Given the description of an element on the screen output the (x, y) to click on. 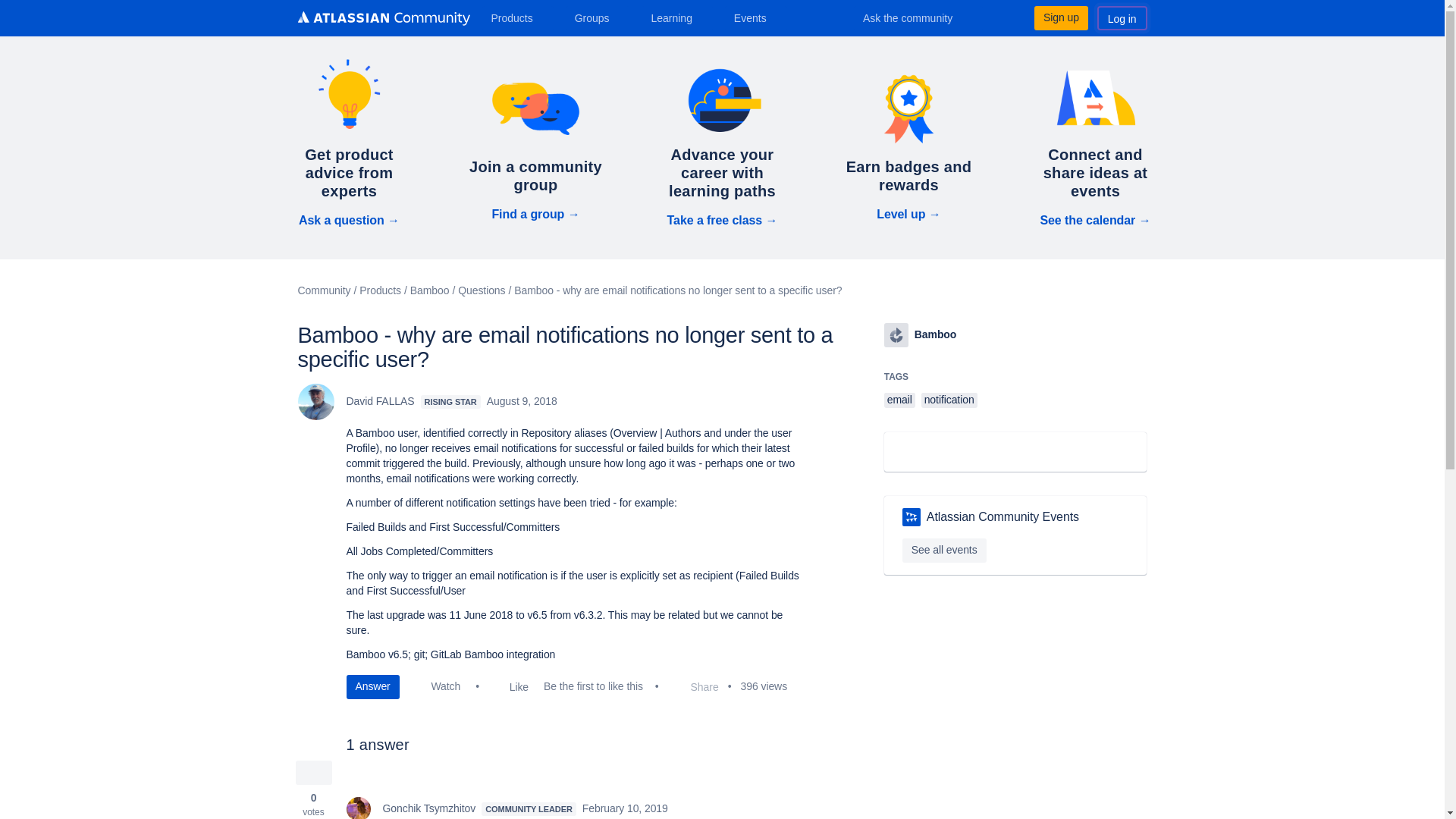
Sign up (1060, 17)
Groups (598, 17)
Ask the community  (917, 17)
Atlassian Community logo (382, 18)
Products (517, 17)
Gonchik Tsymzhitov (357, 807)
Learning (676, 17)
Bamboo (895, 334)
Atlassian Community logo (382, 19)
Events (756, 17)
